Given the description of an element on the screen output the (x, y) to click on. 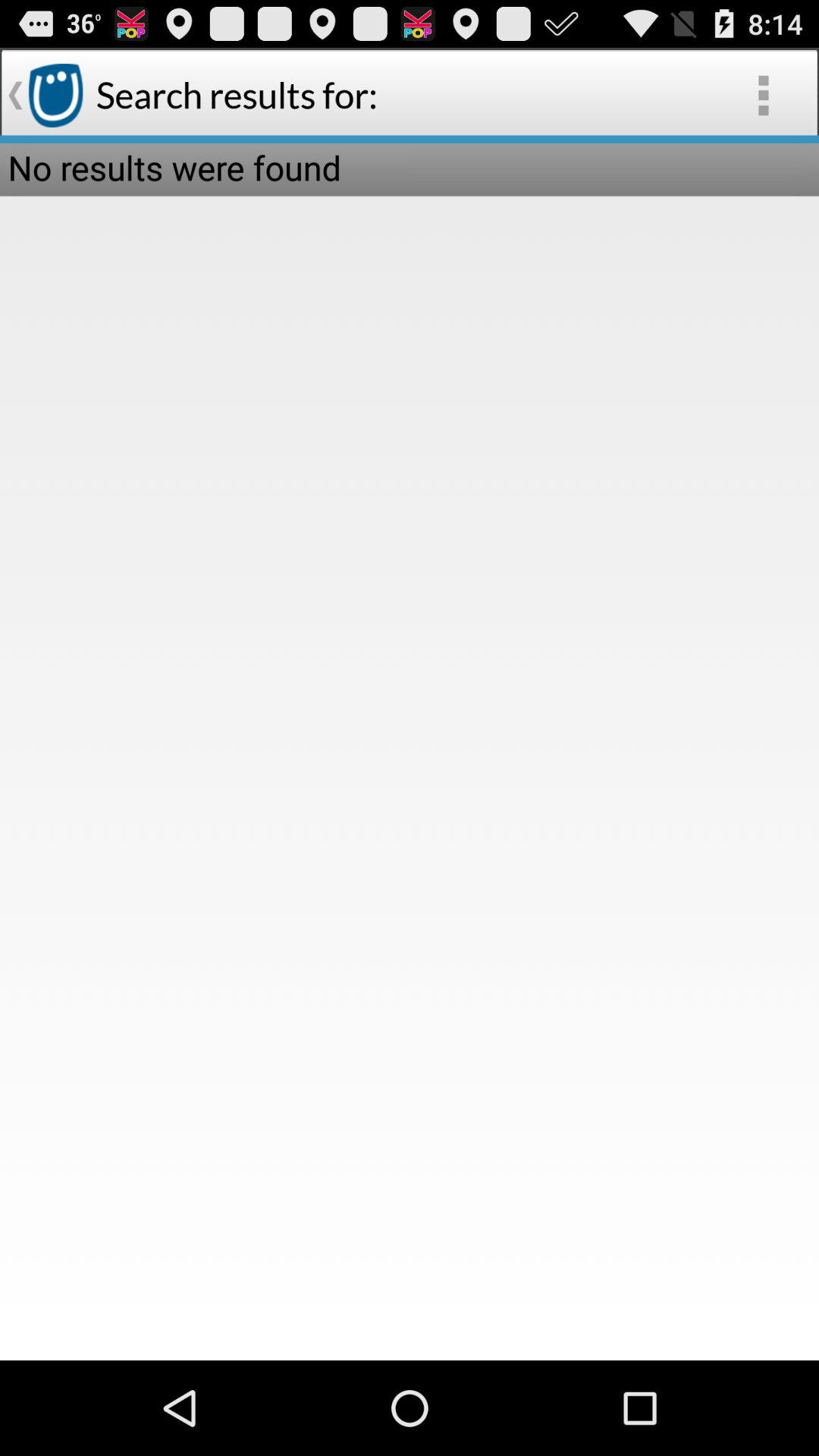
click the item at the center (409, 728)
